Given the description of an element on the screen output the (x, y) to click on. 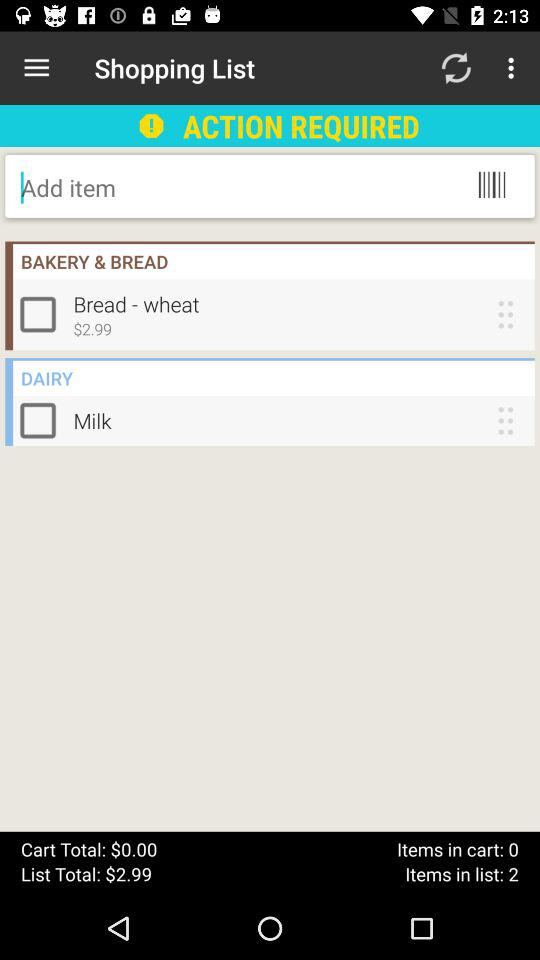
type item (181, 187)
